Given the description of an element on the screen output the (x, y) to click on. 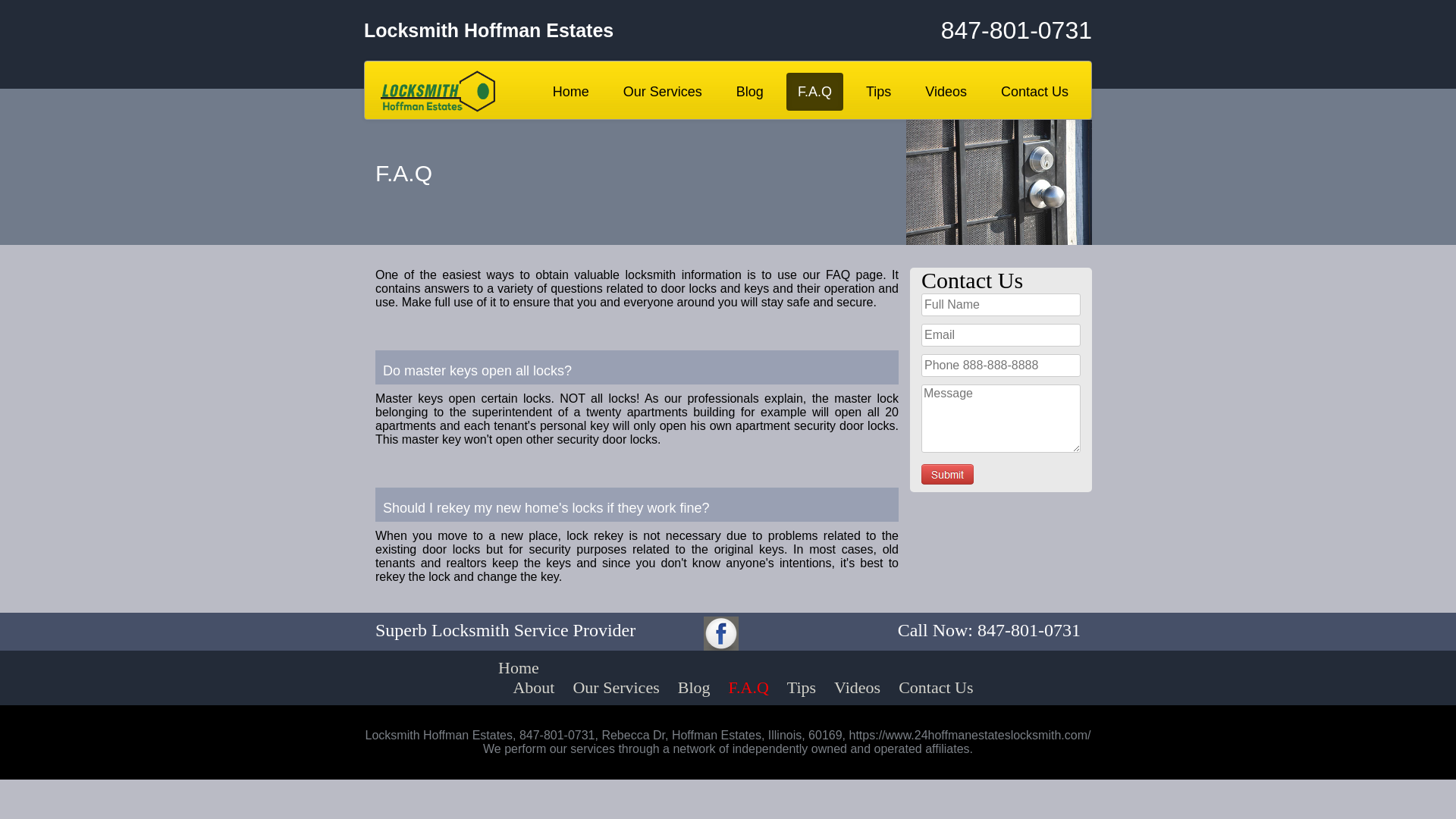
Tips Element type: text (801, 687)
F.A.Q Element type: text (748, 687)
F.A.Q Element type: text (814, 91)
About Element type: text (533, 687)
  Element type: text (947, 474)
Home Element type: text (570, 91)
Our Services Element type: text (662, 91)
Contact Us Element type: text (935, 687)
Home Element type: text (518, 667)
Contact Us Element type: text (1034, 91)
Blog Element type: text (693, 687)
Videos Element type: text (945, 91)
Blog Element type: text (749, 91)
Videos Element type: text (857, 687)
847-801-0731 Element type: text (970, 30)
Tips Element type: text (878, 91)
Our Services Element type: text (615, 687)
